Given the description of an element on the screen output the (x, y) to click on. 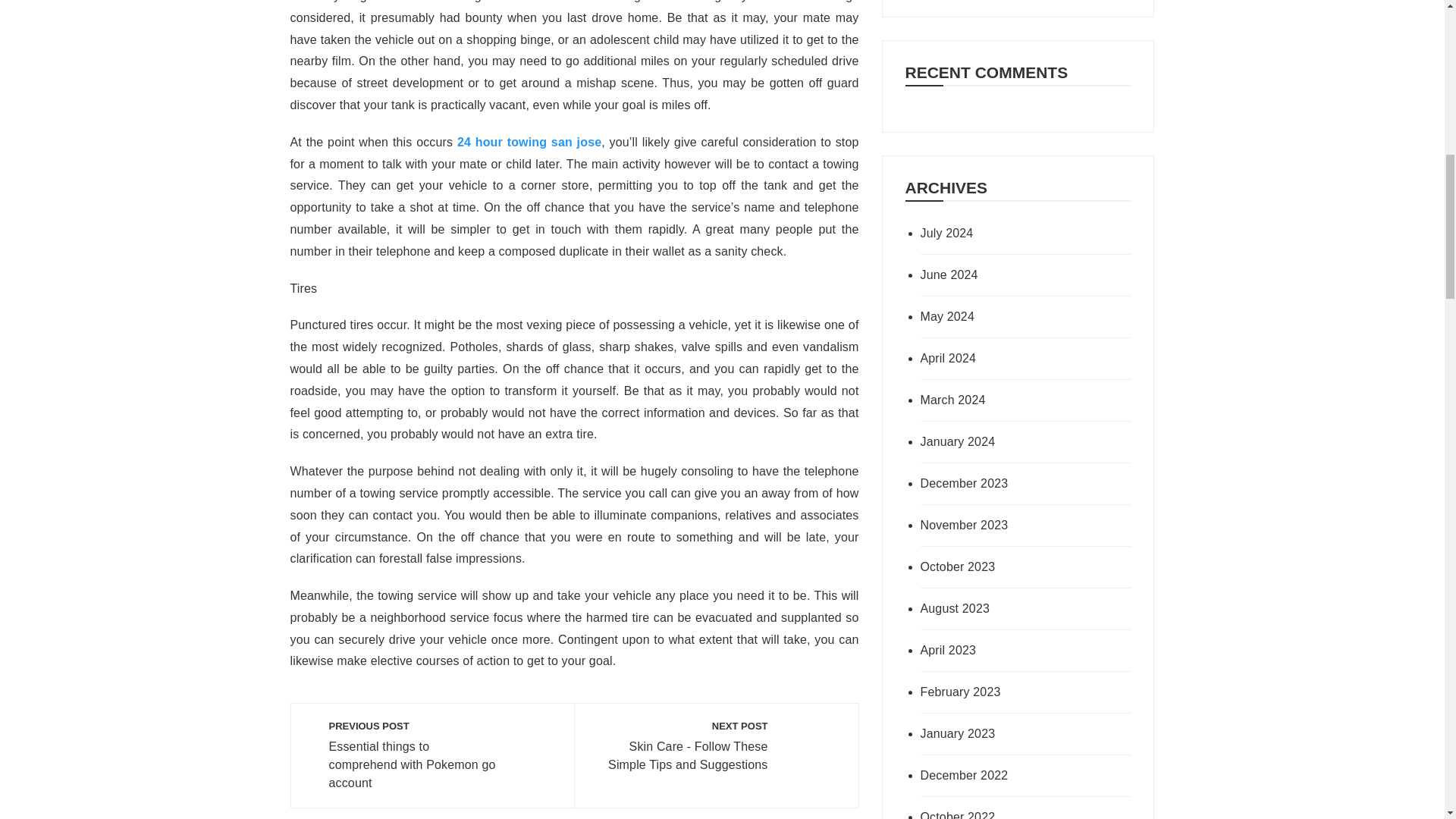
January 2024 (1004, 442)
June 2024 (1004, 275)
April 2023 (1004, 650)
October 2022 (1004, 813)
March 2024 (1004, 400)
April 2024 (1004, 358)
January 2023 (1004, 733)
May 2024 (1004, 316)
December 2023 (1004, 484)
August 2023 (1004, 608)
December 2022 (1004, 775)
July 2024 (1004, 233)
February 2023 (1004, 692)
